Given the description of an element on the screen output the (x, y) to click on. 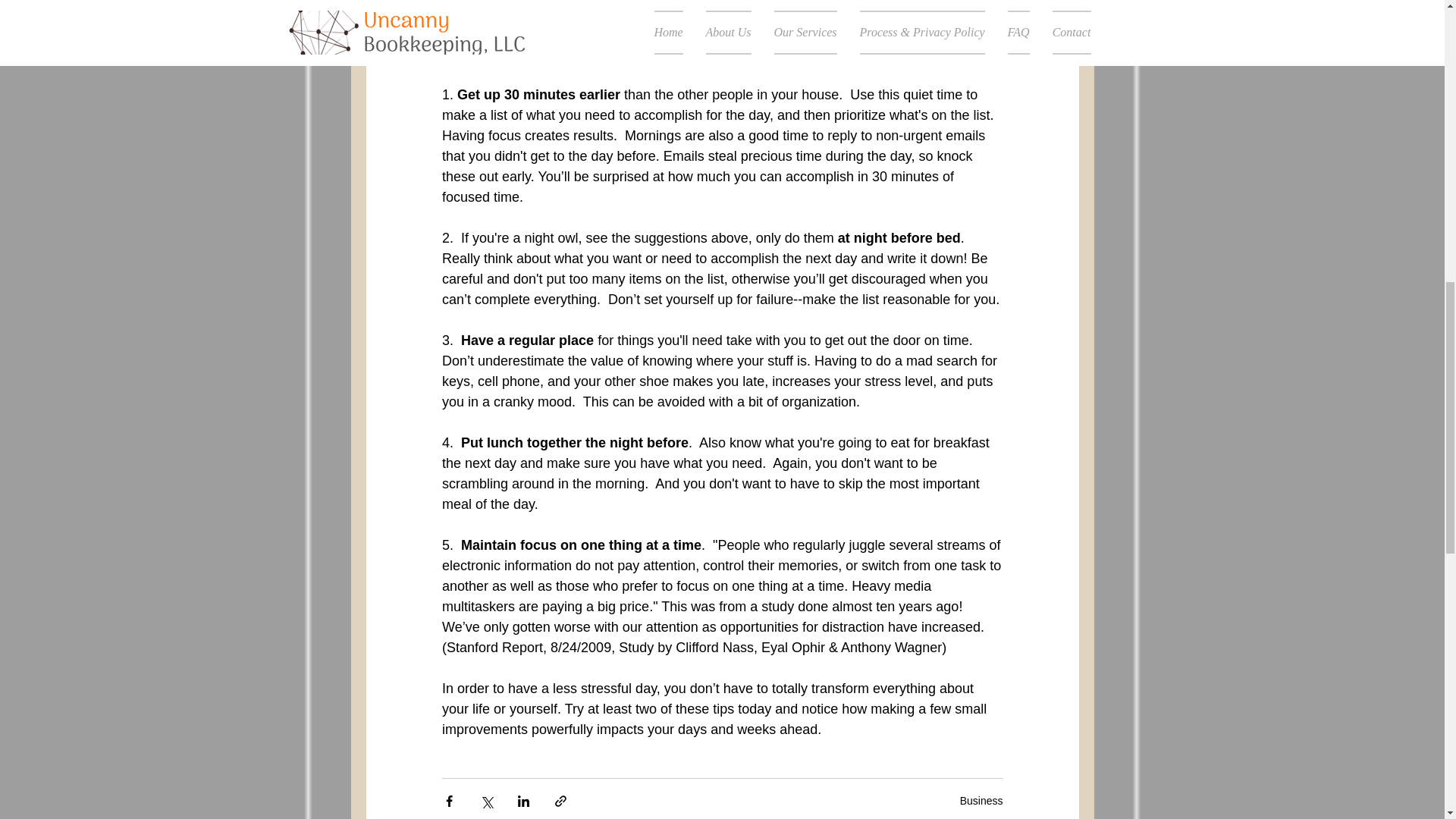
Business (981, 800)
